Given the description of an element on the screen output the (x, y) to click on. 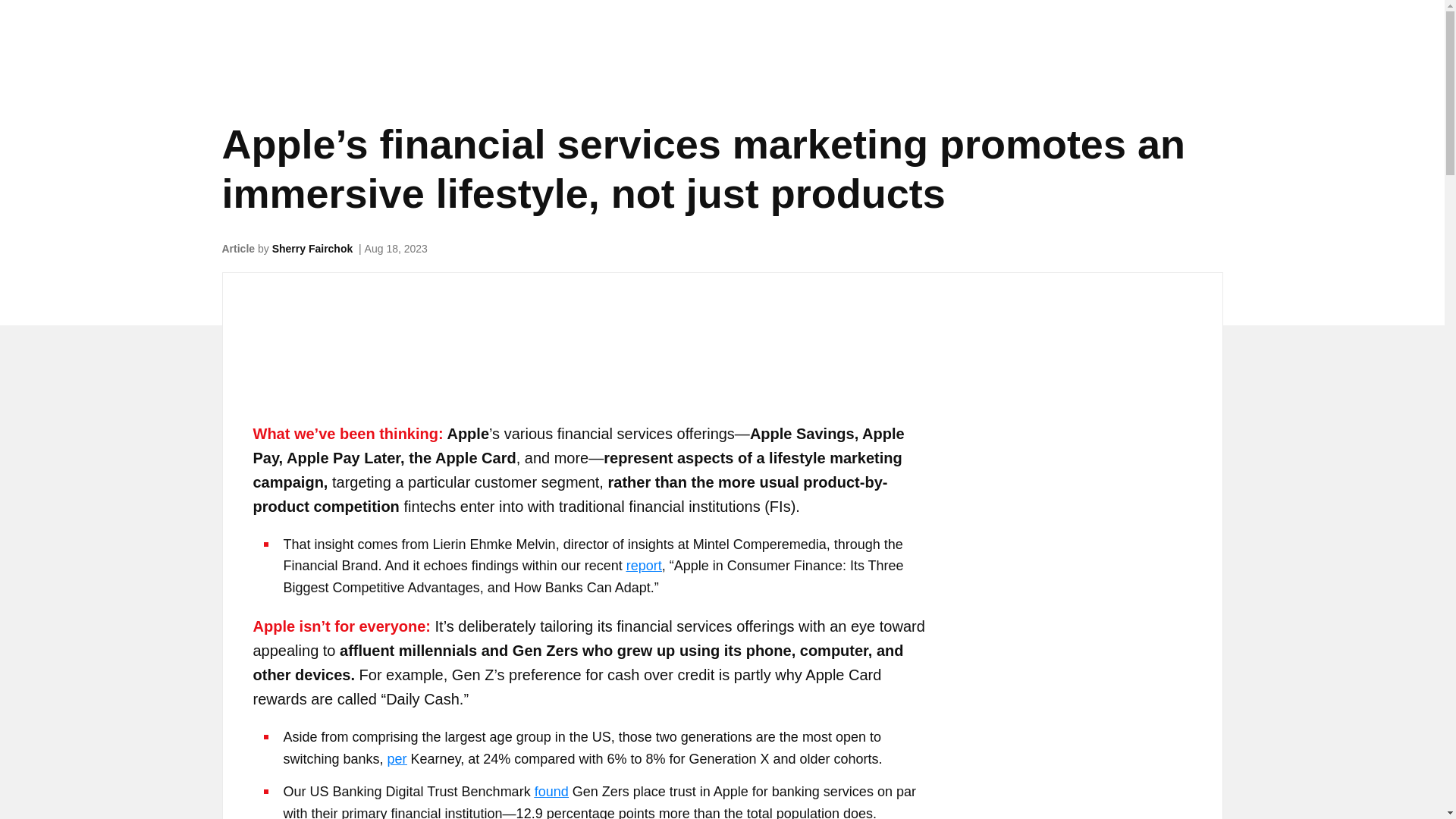
per (397, 758)
report (644, 565)
found (551, 791)
Article (237, 248)
